Given the description of an element on the screen output the (x, y) to click on. 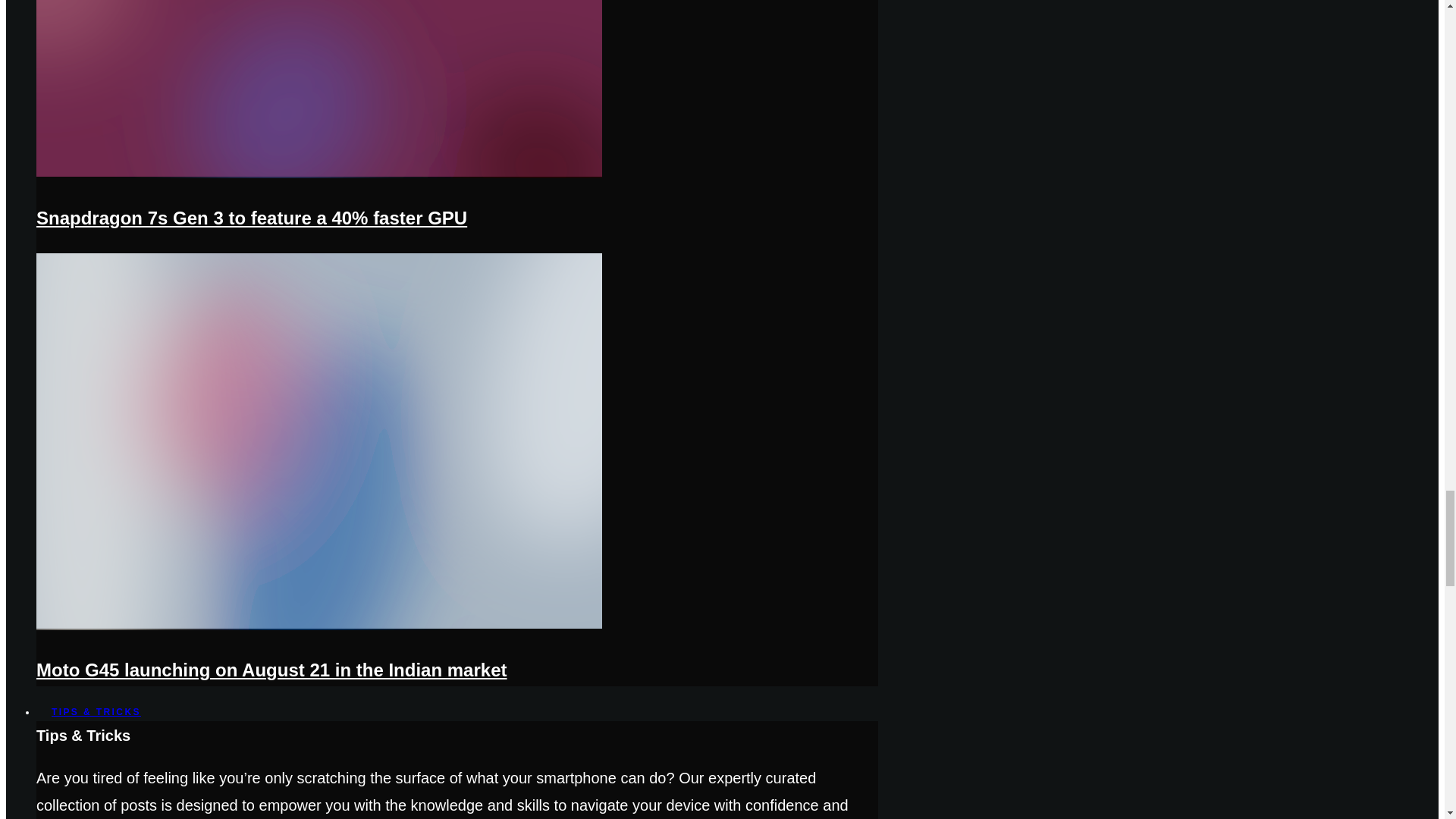
Moto G45 Design 1 (319, 626)
Moto G45 launching on August 21 in the Indian market (271, 670)
Snapdragon 7s Gen 3 Specifications (319, 174)
